Given the description of an element on the screen output the (x, y) to click on. 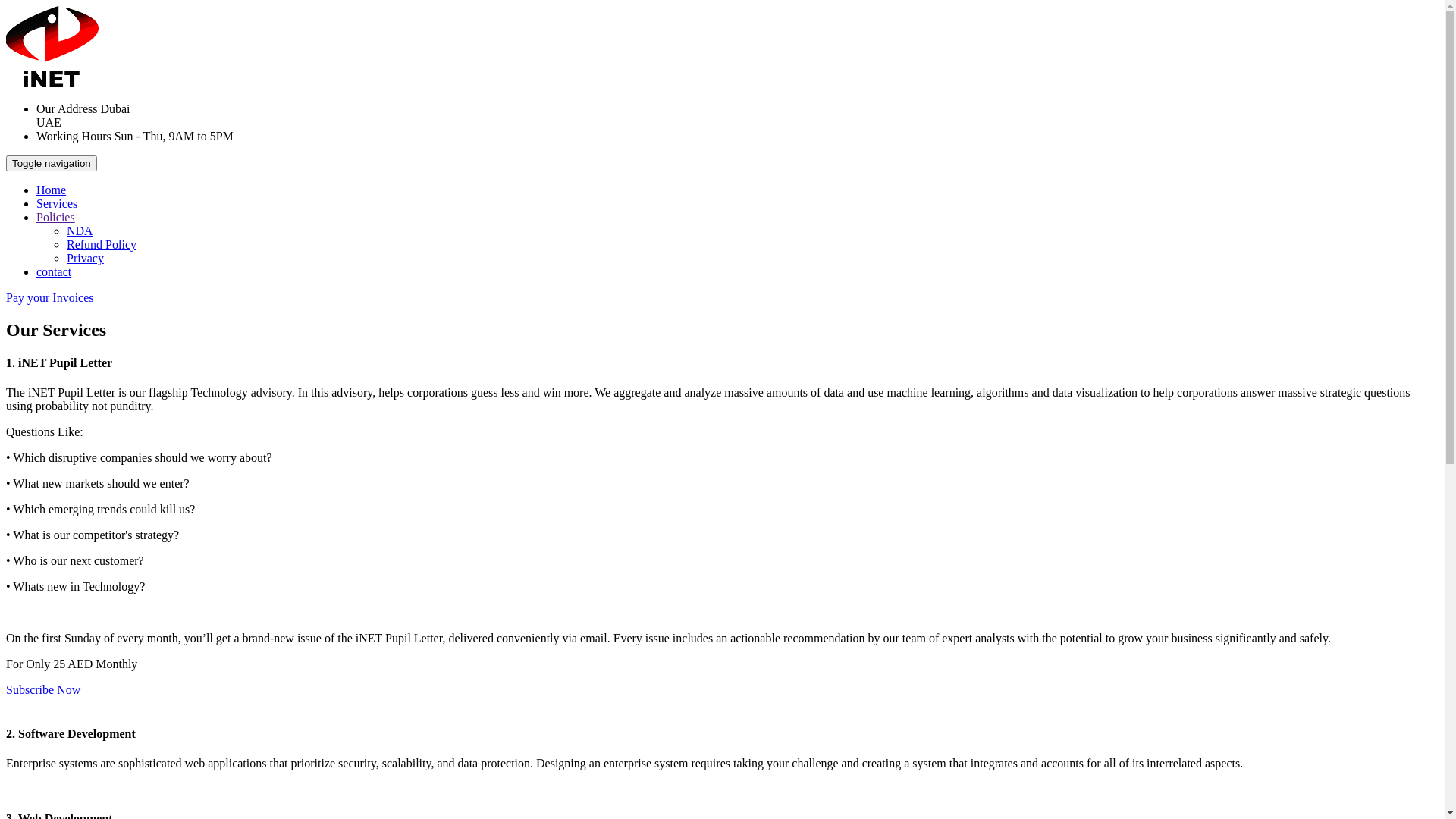
NDA Element type: text (79, 230)
Refund Policy Element type: text (101, 244)
Policies Element type: text (55, 216)
Subscribe Now Element type: text (43, 689)
Privacy Element type: text (84, 257)
Pay your Invoices Element type: text (50, 297)
Home Element type: text (50, 189)
Toggle navigation Element type: text (51, 163)
Services Element type: text (56, 203)
contact Element type: text (53, 271)
